Given the description of an element on the screen output the (x, y) to click on. 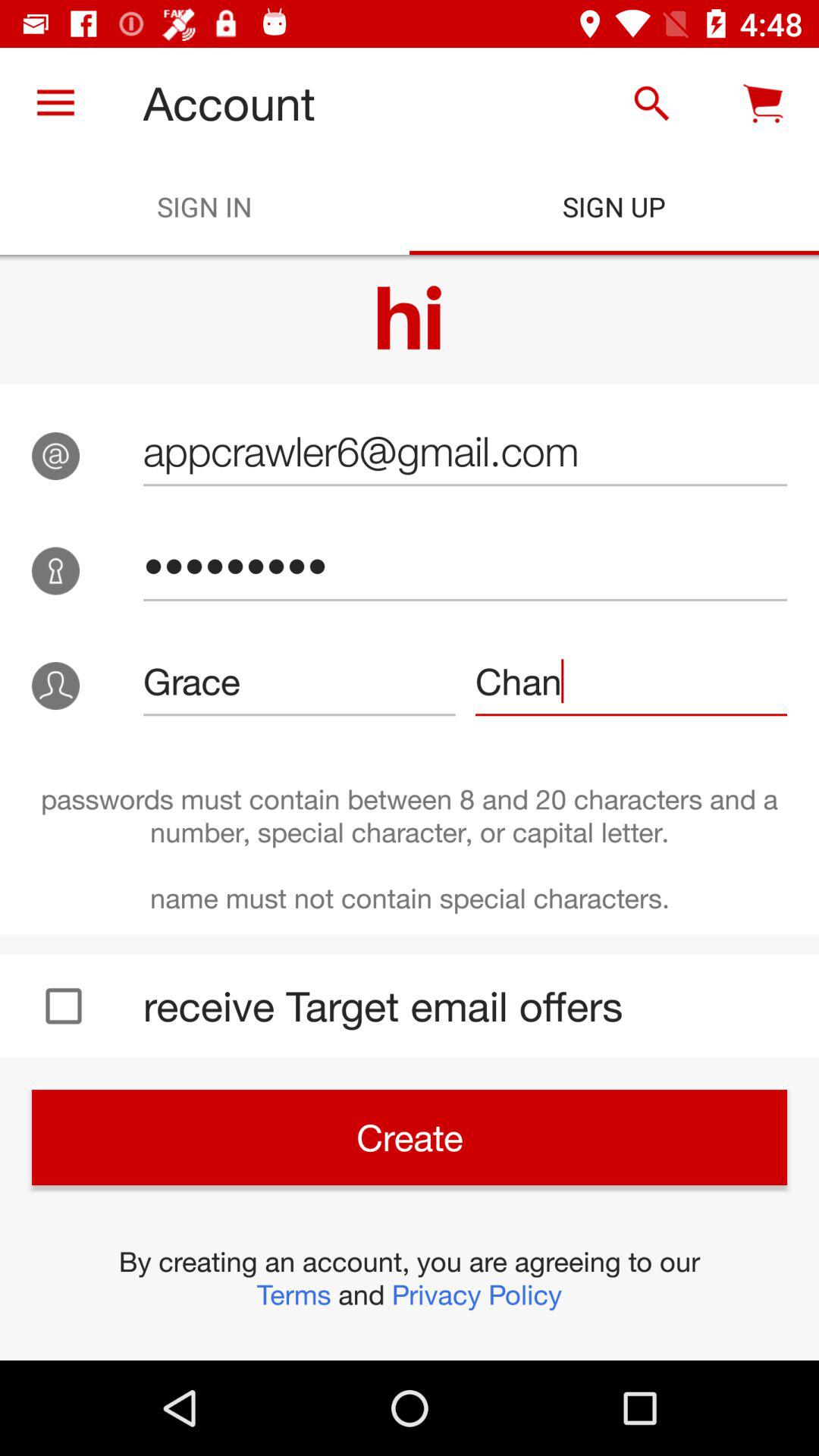
swipe to by creating an icon (409, 1277)
